Given the description of an element on the screen output the (x, y) to click on. 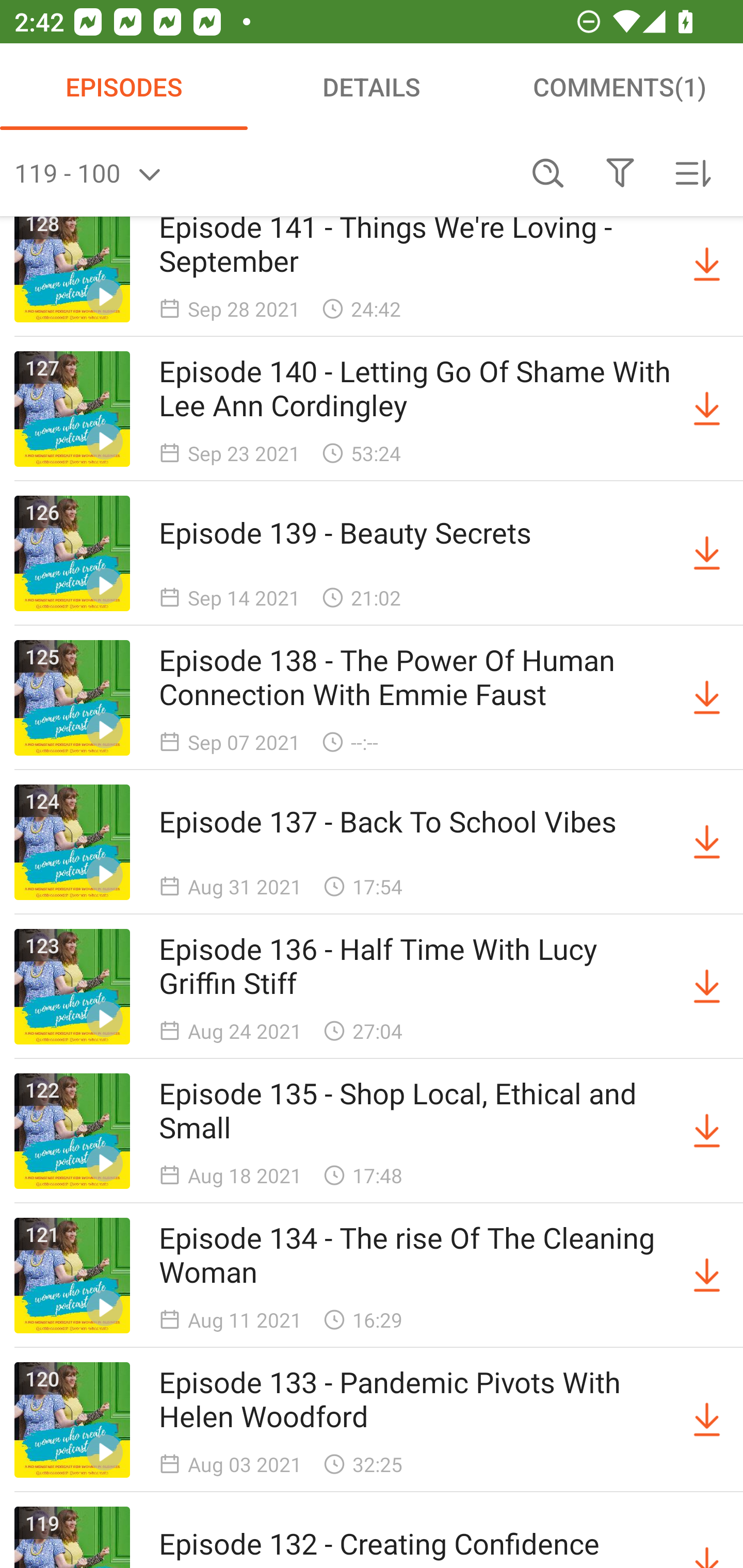
DETAILS (371, 86)
COMMENTS(1) (619, 86)
119 - 100  (262, 173)
 Search (547, 173)
 (619, 173)
 Sorted by newest first (692, 173)
Download (706, 264)
Download (706, 409)
Download (706, 553)
Download (706, 697)
Download (706, 842)
Download (706, 986)
Download (706, 1131)
Download (706, 1275)
Download (706, 1419)
